Given the description of an element on the screen output the (x, y) to click on. 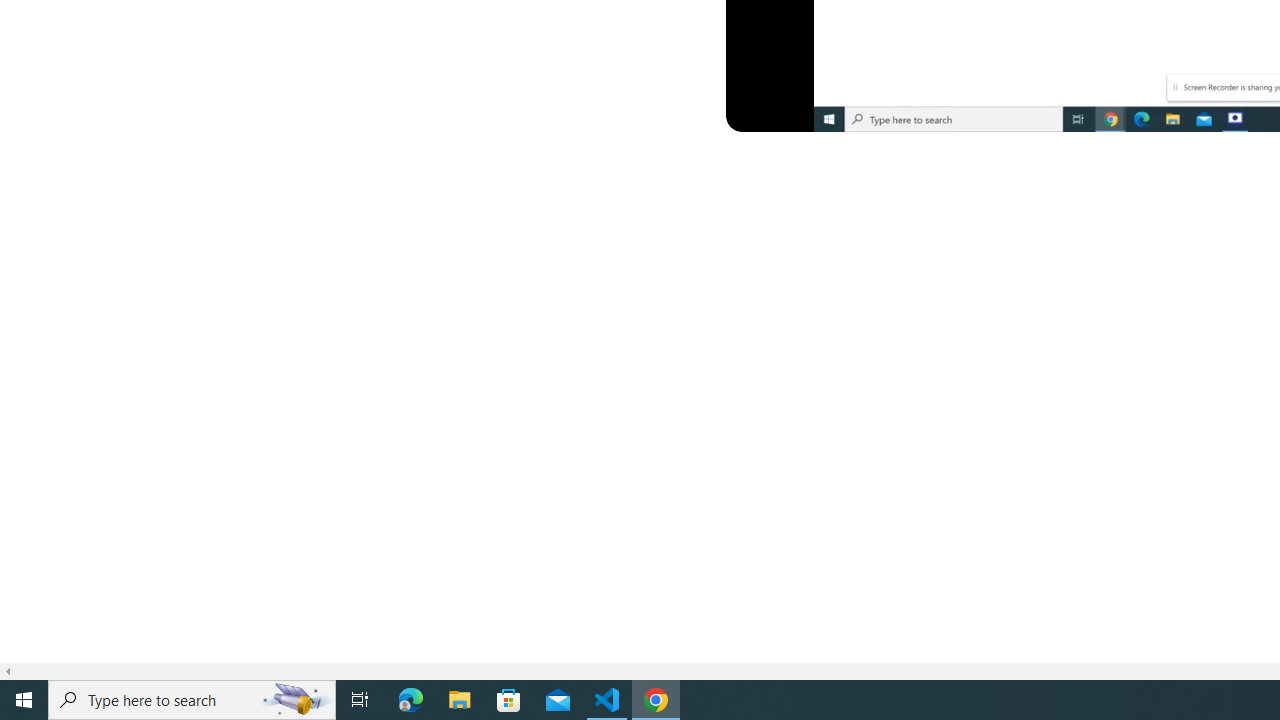
Mute (m) (803, 111)
Play (k) (760, 111)
